Given the description of an element on the screen output the (x, y) to click on. 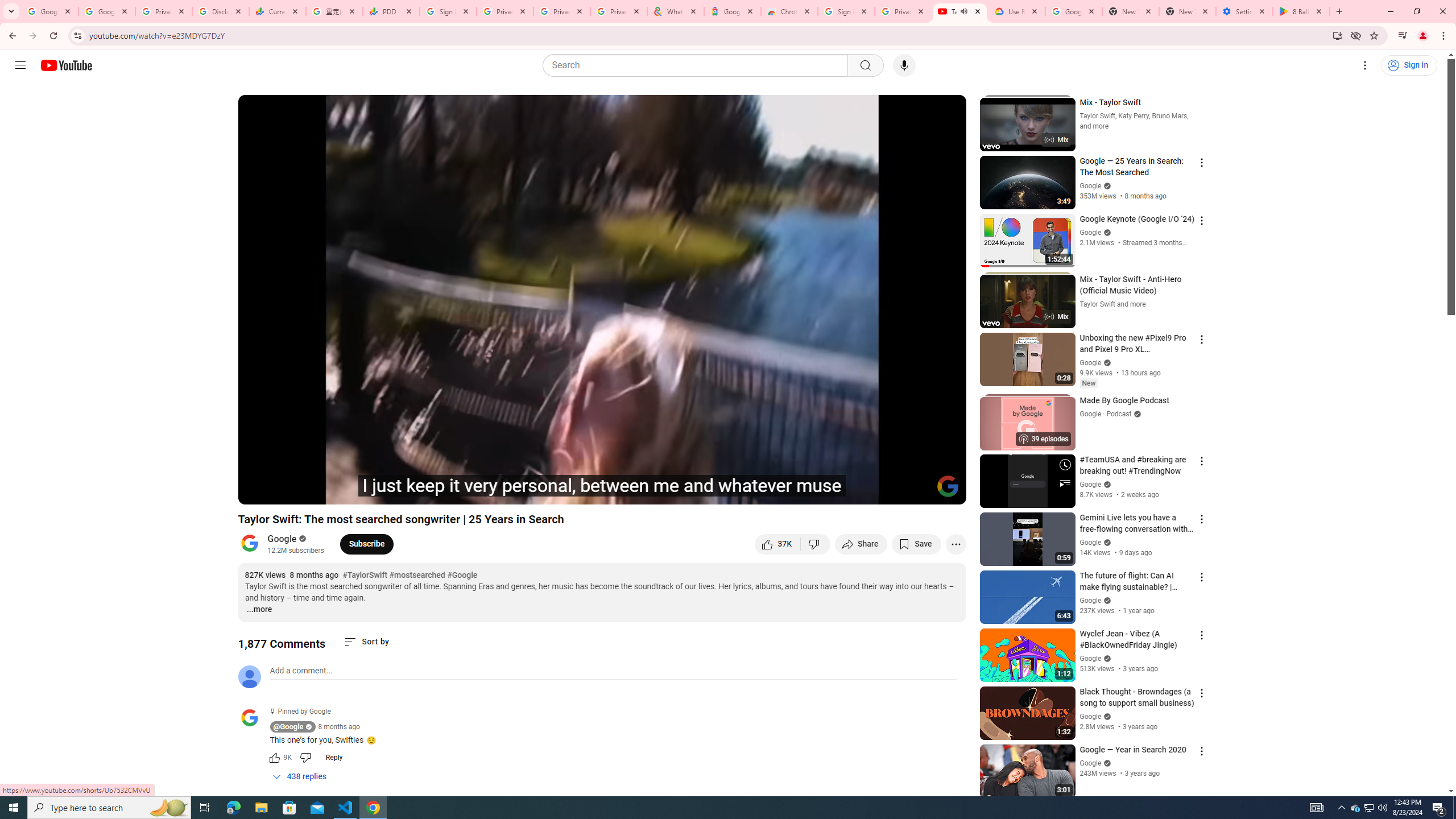
Sort comments (366, 641)
Default profile photo (248, 676)
@Google (288, 726)
Save to playlist (915, 543)
Channel watermark (947, 486)
Full screen (f) (945, 490)
Guide (20, 65)
